Given the description of an element on the screen output the (x, y) to click on. 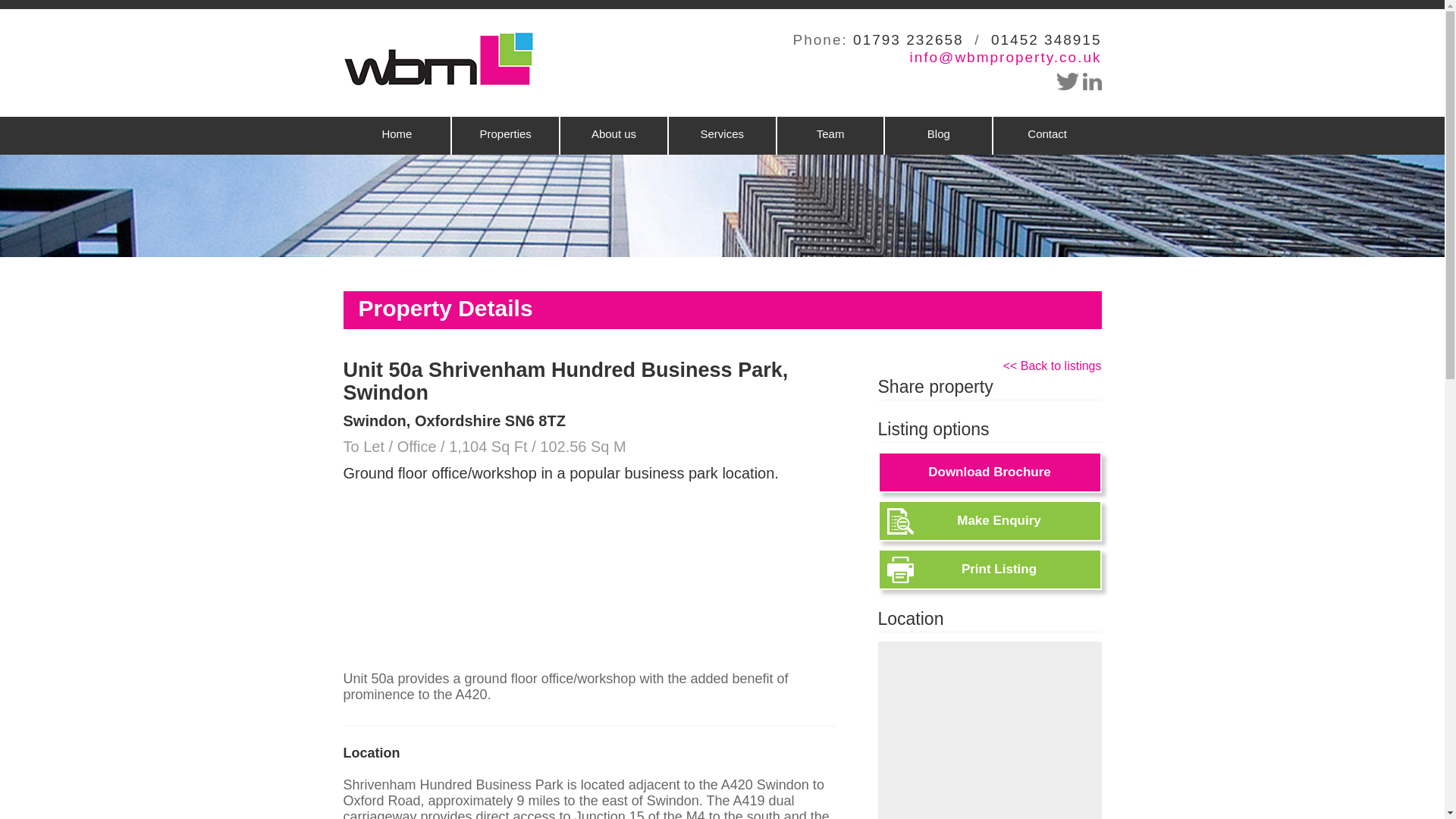
Contact (1046, 135)
Home (395, 135)
01793 232658 (908, 39)
Services (722, 135)
WBM Property logo (437, 59)
LinkedIn (1091, 81)
About us (613, 135)
Blog (938, 135)
01452 348915 (1046, 39)
Twitter (1067, 81)
Team (830, 135)
Properties (505, 135)
